Given the description of an element on the screen output the (x, y) to click on. 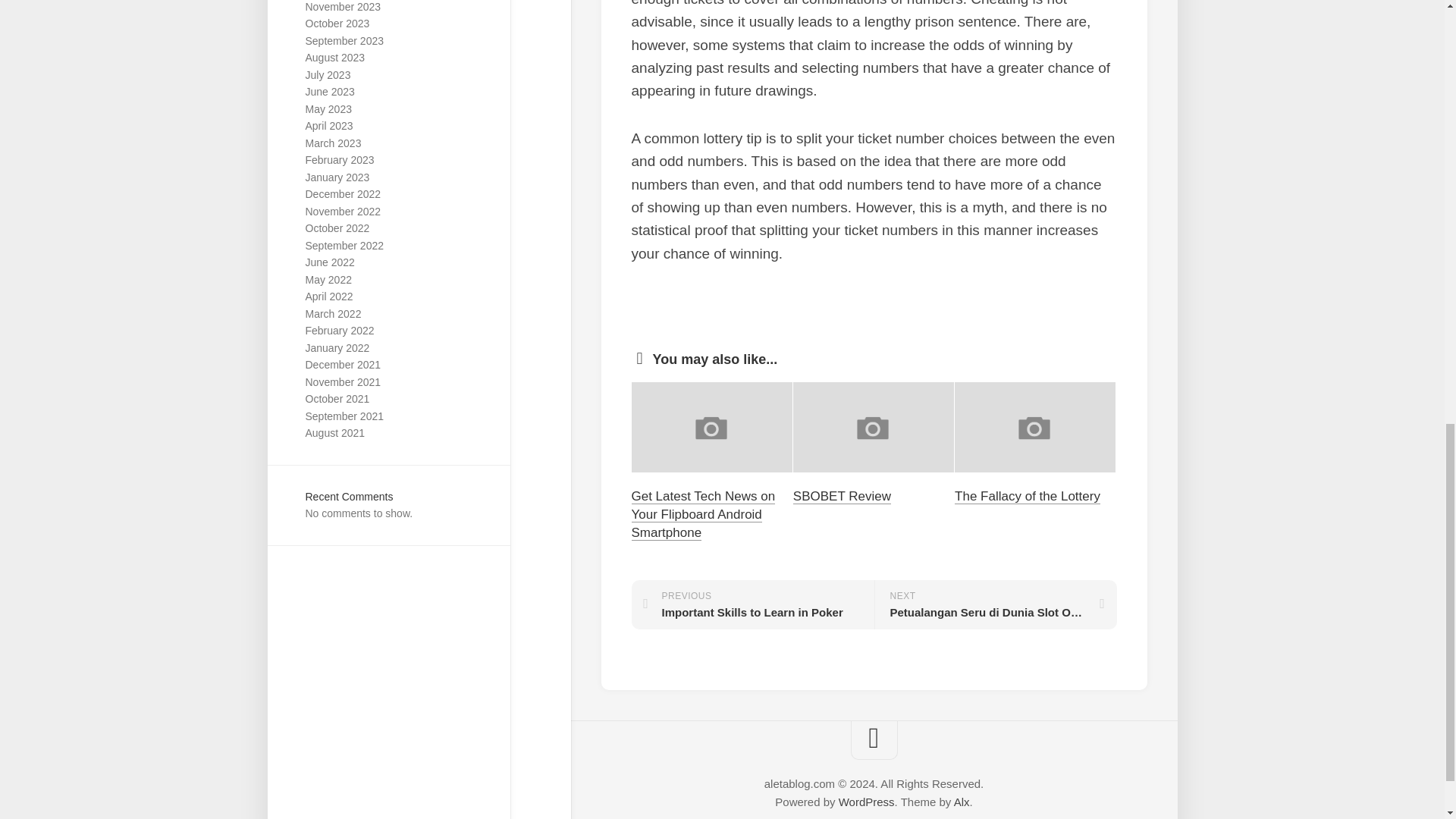
February 2023 (339, 159)
November 2022 (342, 211)
July 2023 (327, 74)
October 2022 (336, 227)
March 2023 (332, 143)
May 2023 (327, 109)
April 2023 (328, 125)
October 2023 (336, 23)
August 2023 (334, 57)
January 2023 (336, 177)
